Given the description of an element on the screen output the (x, y) to click on. 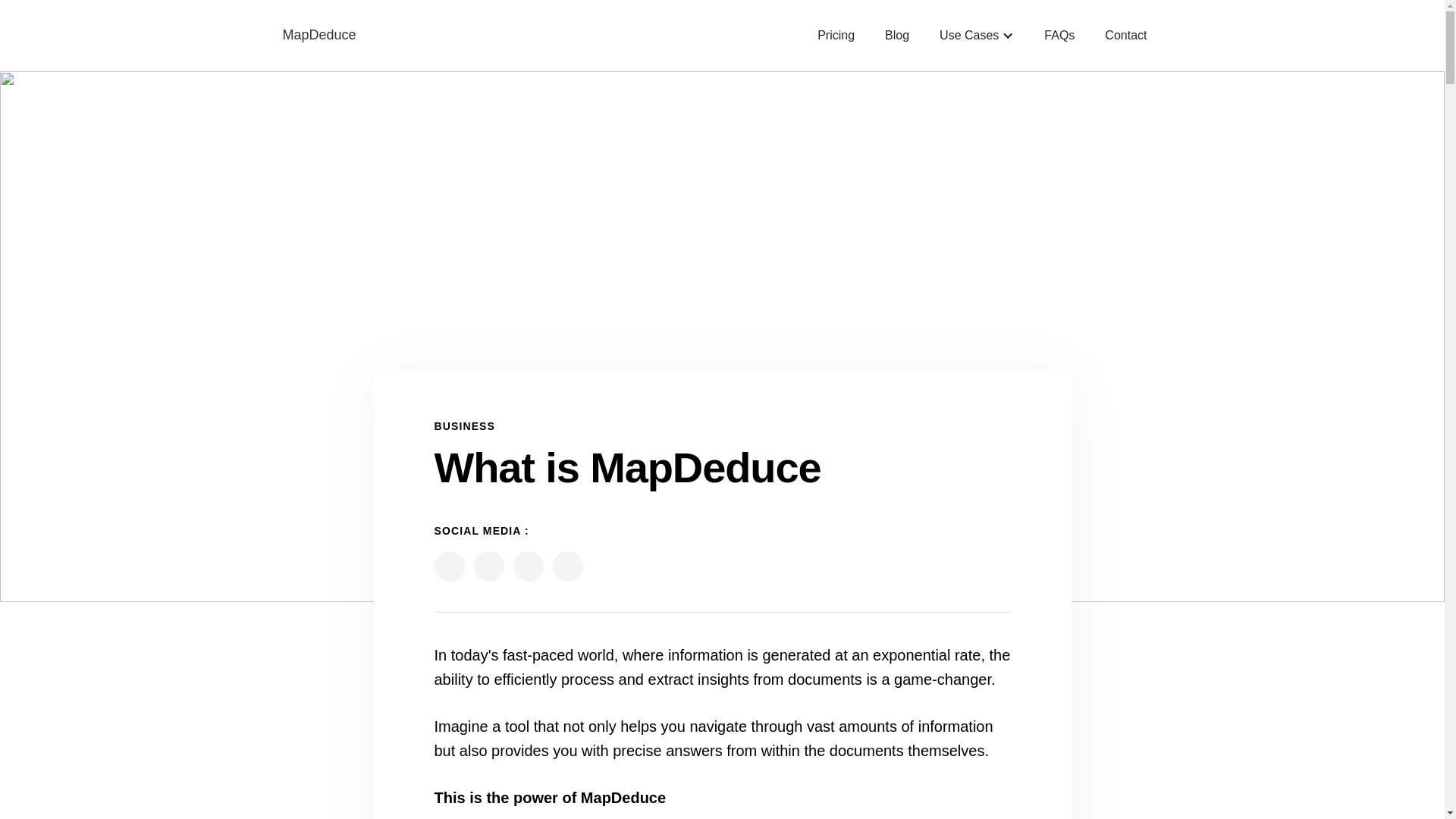
Pricing (835, 35)
Blog (896, 35)
Contact (1125, 35)
FAQs (1059, 35)
MapDeduce (318, 34)
